Given the description of an element on the screen output the (x, y) to click on. 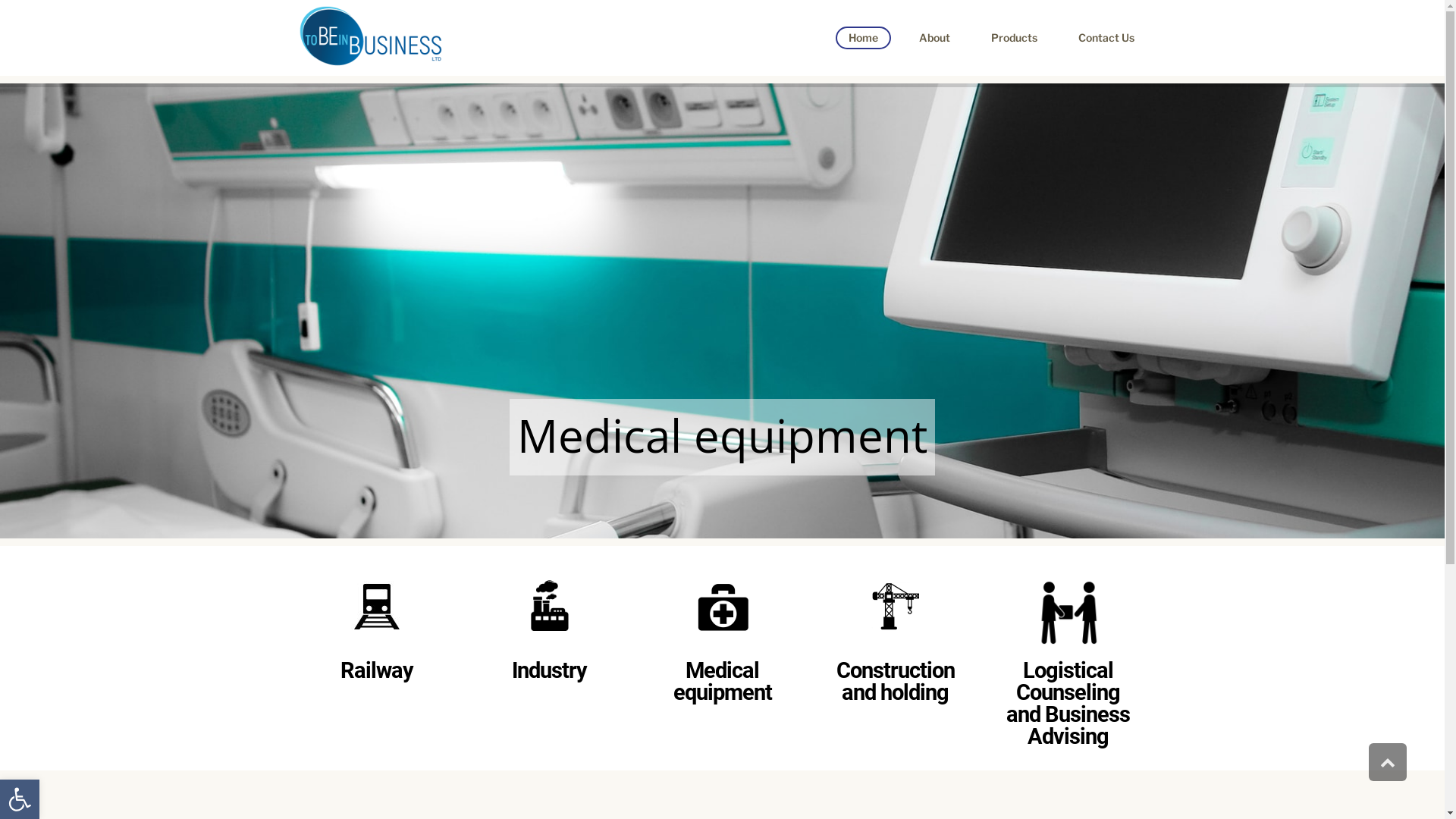
Home Element type: text (863, 37)
Products Element type: text (1013, 37)
industry-01 Element type: hover (548, 606)
About Element type: text (933, 37)
Scroll to top Element type: text (1387, 762)
Railway Element type: text (375, 670)
noun_142825-01 Element type: hover (1067, 606)
Logistical Counseling and Business Advising Element type: text (1067, 703)
ic00002x Element type: hover (721, 606)
Construction and holding Element type: text (894, 681)
Contact Us Element type: text (1105, 37)
ic00004x Element type: hover (894, 606)
Medical equipment Element type: text (722, 681)
Industry Element type: text (548, 670)
ic00004 Element type: hover (376, 606)
